Given the description of an element on the screen output the (x, y) to click on. 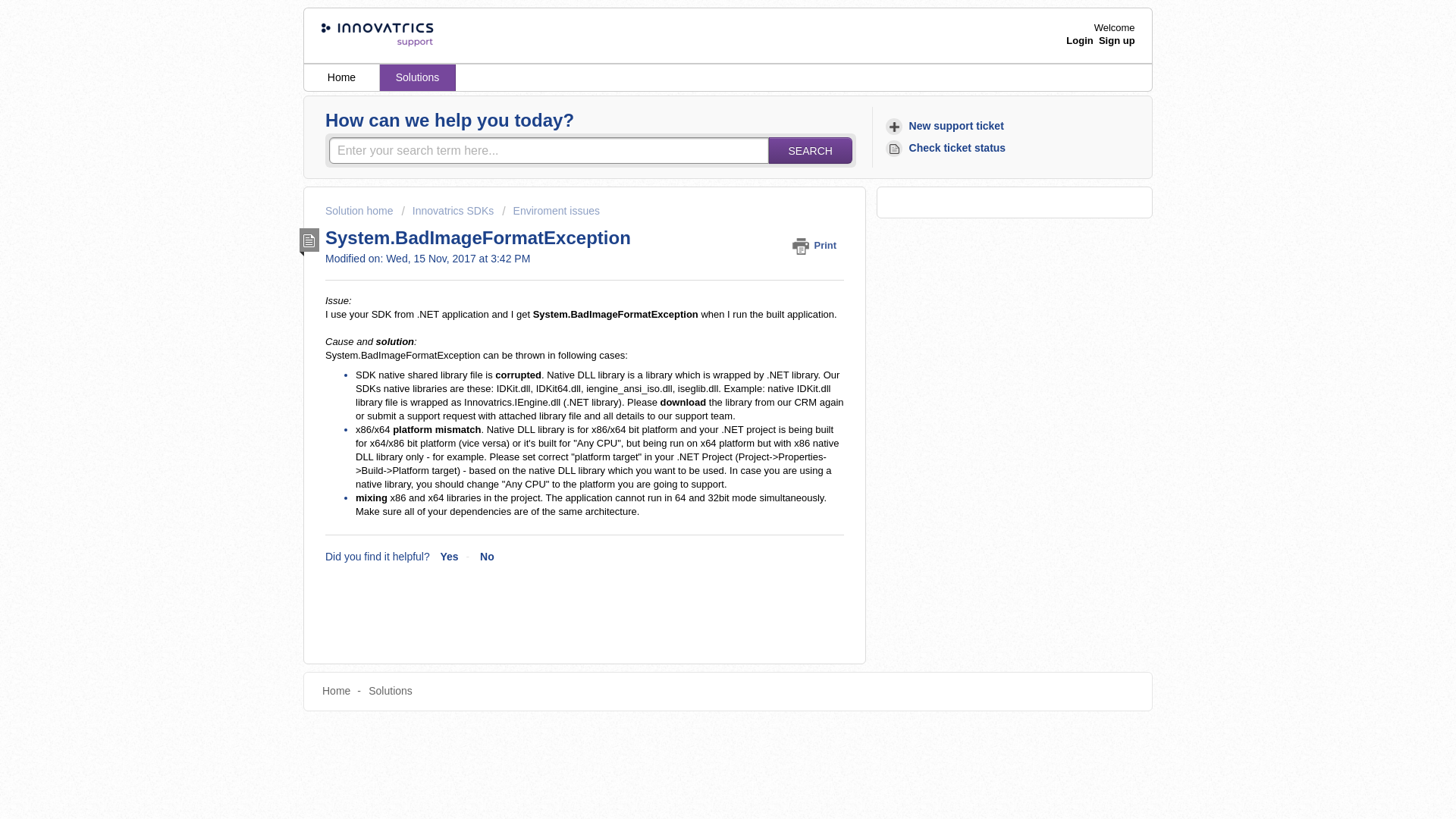
Solution home (360, 210)
Solutions (417, 77)
Check ticket status (947, 147)
SEARCH (809, 150)
Solutions (390, 690)
New support ticket (946, 126)
Check ticket status (947, 147)
Print this Article (818, 244)
Enviroment issues (550, 210)
Home (335, 690)
Print (818, 244)
Home (342, 77)
New support ticket (946, 126)
Innovatrics SDKs (447, 210)
Sign up (1117, 40)
